Given the description of an element on the screen output the (x, y) to click on. 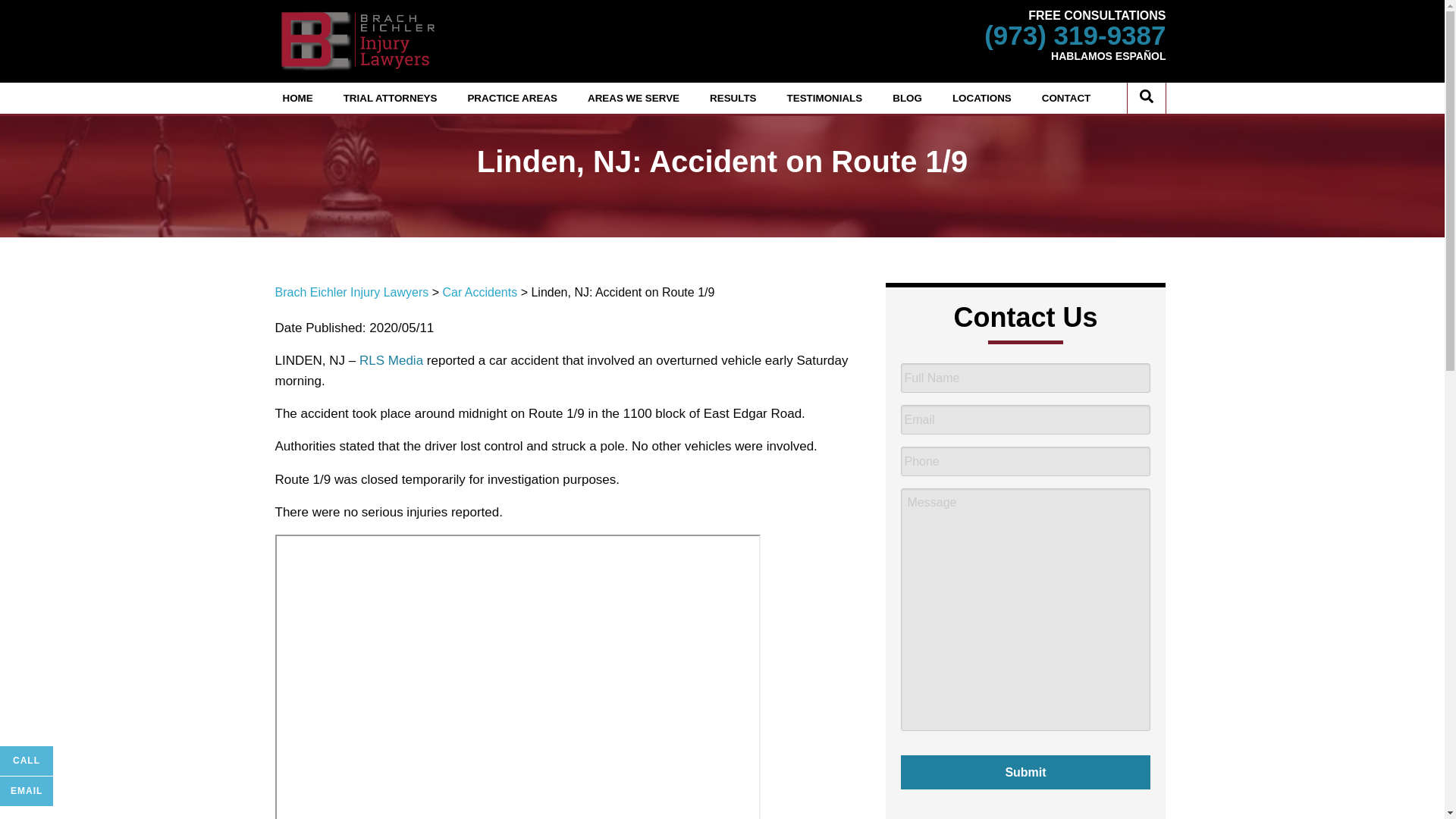
Submit (1026, 772)
Go to the Car Accidents category archives. (479, 291)
Go to Brach Eichler Injury Lawyers. (351, 291)
